Given the description of an element on the screen output the (x, y) to click on. 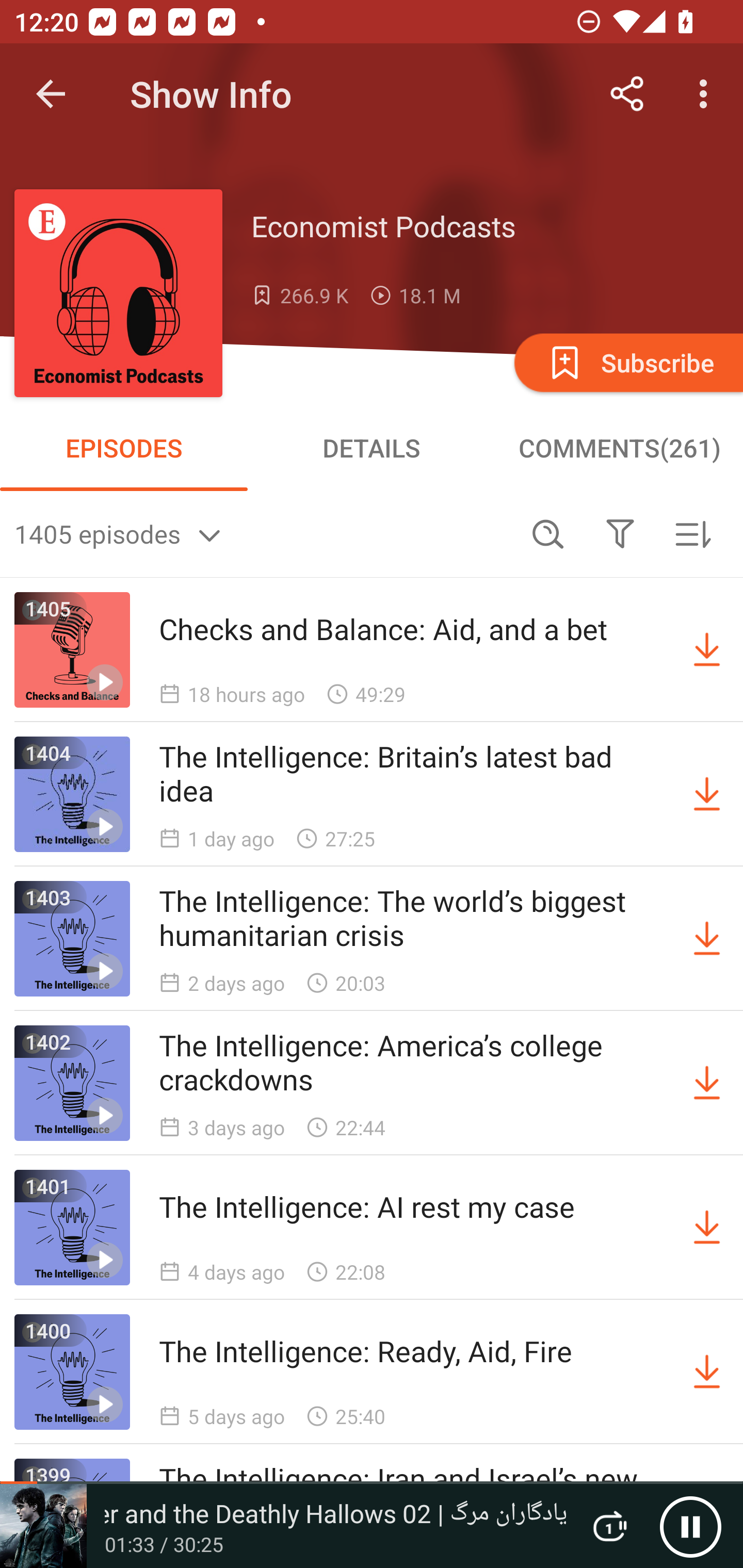
Navigate up (50, 93)
Share (626, 93)
More options (706, 93)
Subscribe (627, 361)
EPISODES (123, 447)
DETAILS (371, 447)
COMMENTS(261) (619, 447)
1405 episodes  (262, 533)
 Search (547, 533)
 (619, 533)
 Sorted by newest first (692, 533)
Download (706, 649)
Download (706, 793)
Download (706, 939)
Download (706, 1083)
Download (706, 1227)
Download (706, 1371)
Pause (690, 1526)
